Given the description of an element on the screen output the (x, y) to click on. 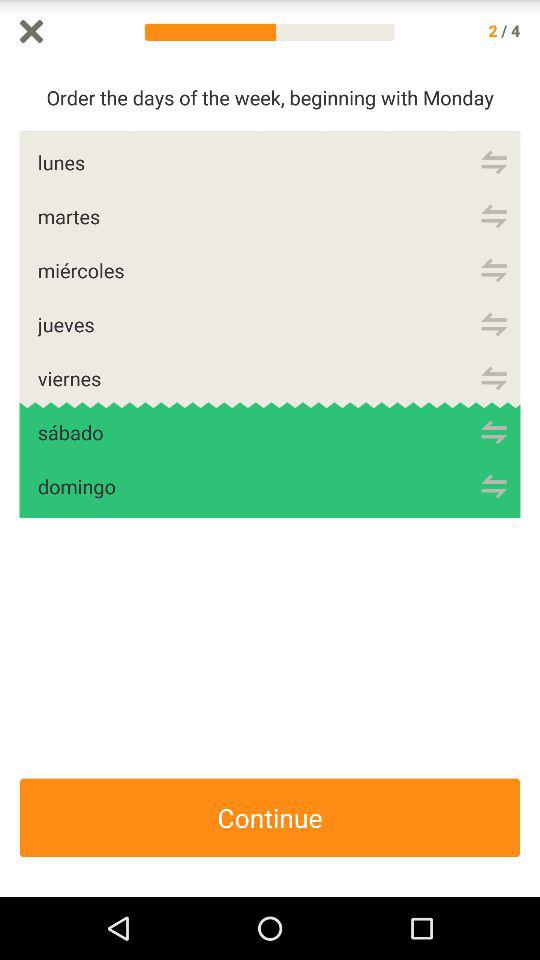
move up or down (494, 270)
